Given the description of an element on the screen output the (x, y) to click on. 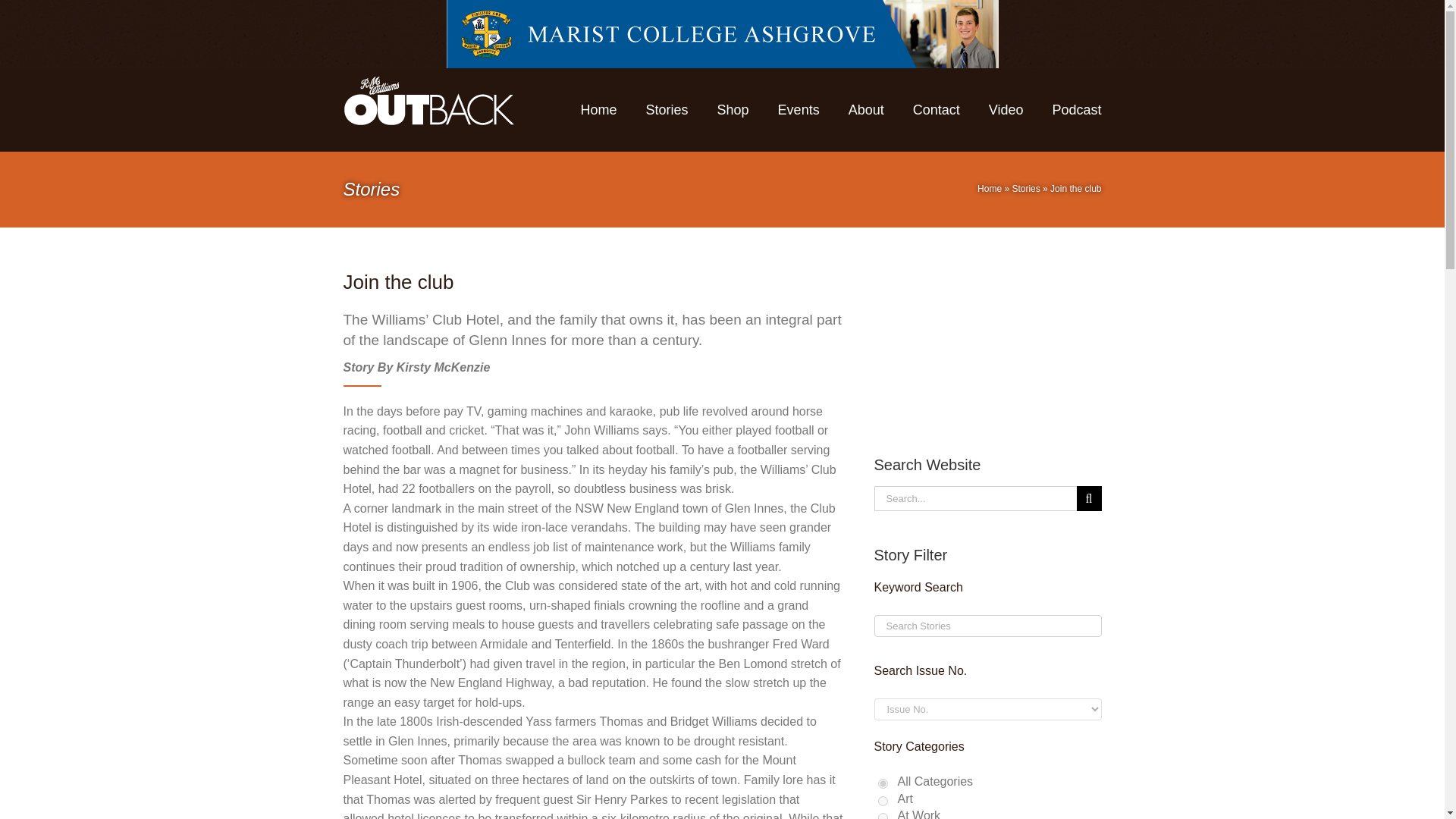
Home (988, 188)
art (882, 800)
Stories (1025, 188)
at-work (882, 816)
